Given the description of an element on the screen output the (x, y) to click on. 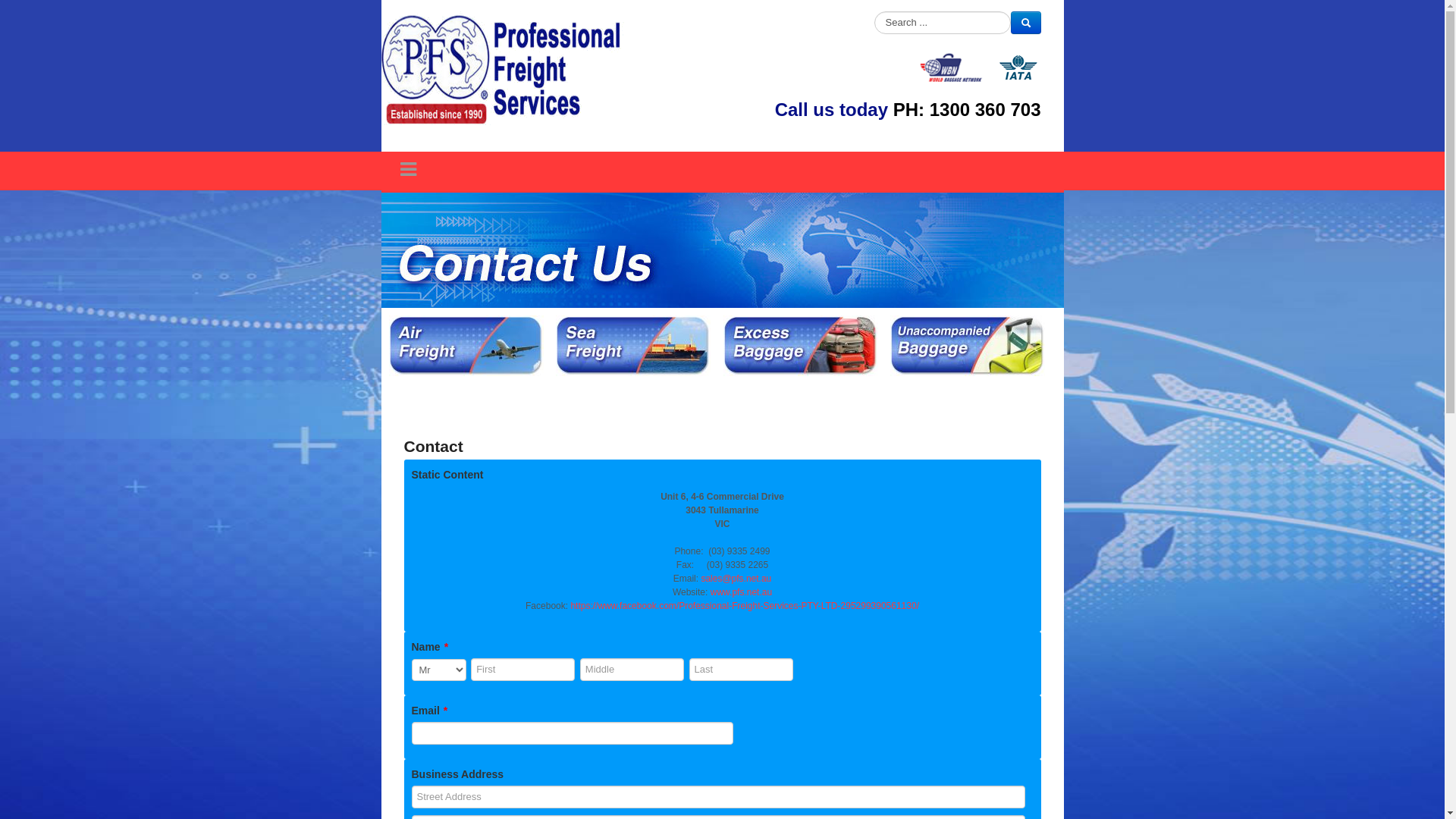
Professional Freight Services Melbourne Element type: hover (501, 68)
sales@pfs.net.au Element type: text (735, 578)
www.pfs.net.au Element type: text (740, 591)
